Given the description of an element on the screen output the (x, y) to click on. 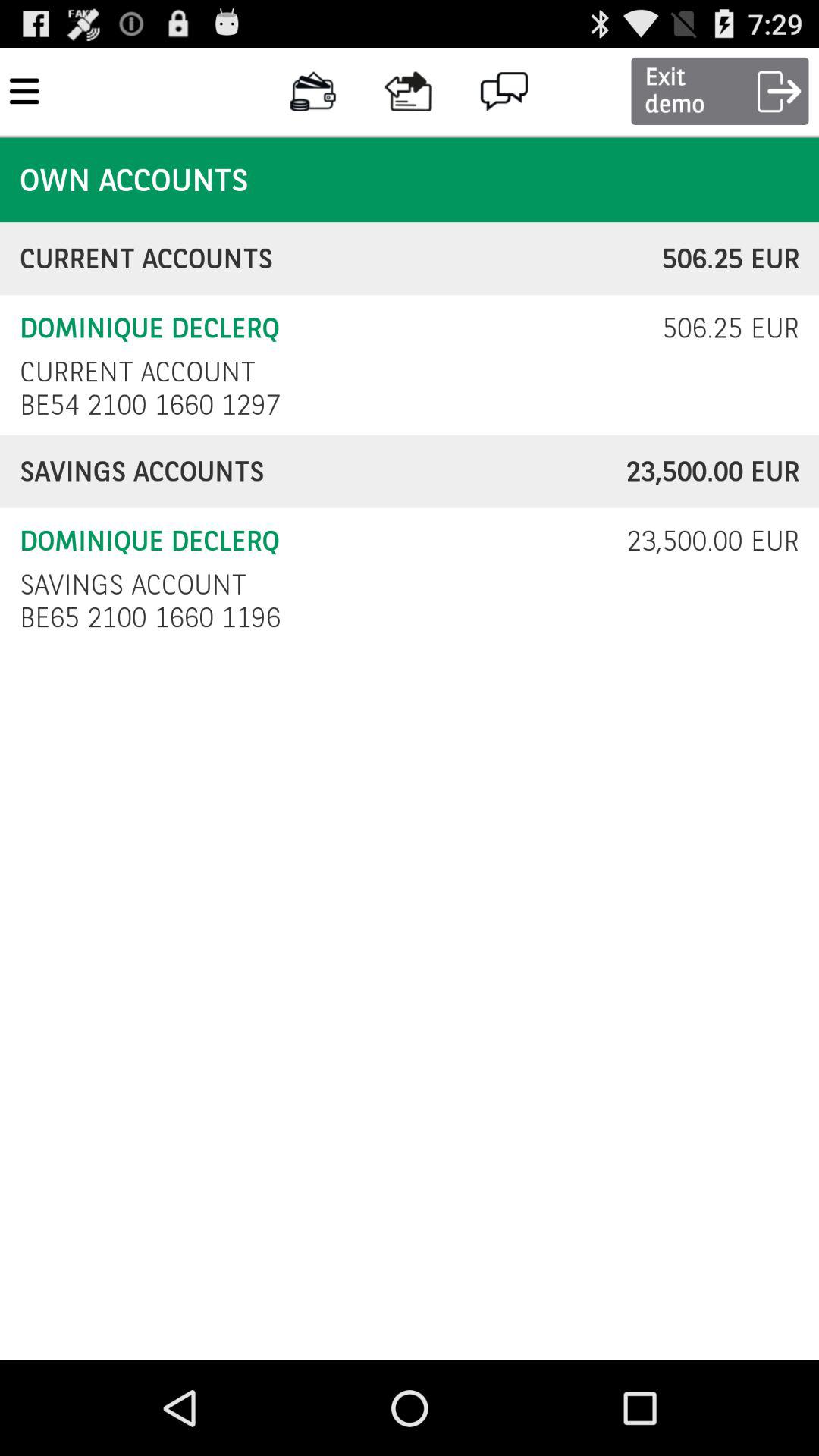
press item above savings accounts item (153, 404)
